Given the description of an element on the screen output the (x, y) to click on. 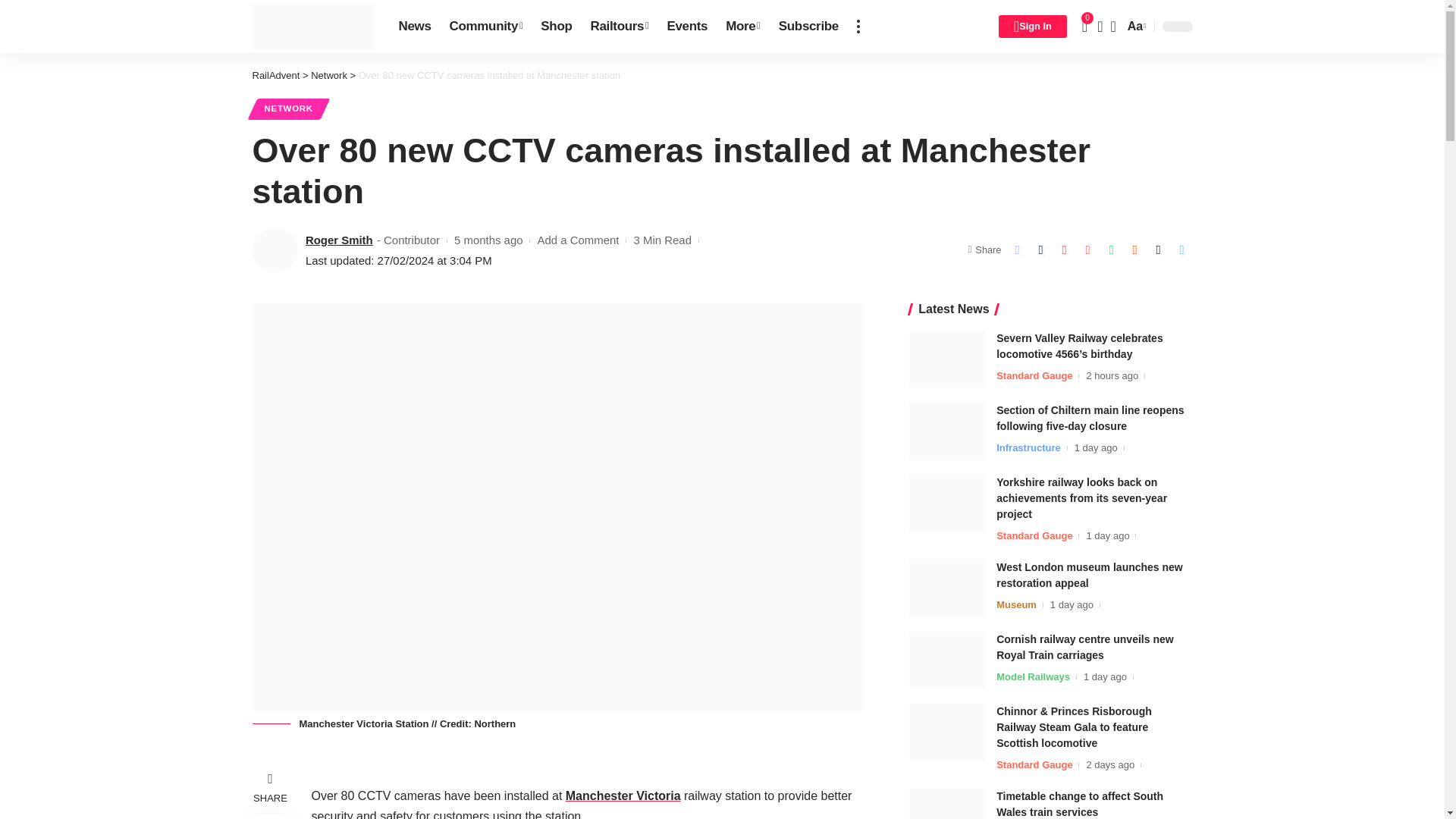
Shop (555, 26)
Events (687, 26)
Community (486, 26)
Subscribe (808, 26)
West London museum launches new restoration appeal (946, 587)
Go to the Network Category archives. (329, 75)
News (415, 26)
Go to RailAdvent. (275, 75)
Posts tagged with Manchester Victoria (623, 795)
RailAdvent (312, 26)
Railtours (619, 26)
More (743, 26)
Cornish railway centre unveils new Royal Train carriages (946, 659)
Timetable change to affect South Wales train services (946, 803)
